Given the description of an element on the screen output the (x, y) to click on. 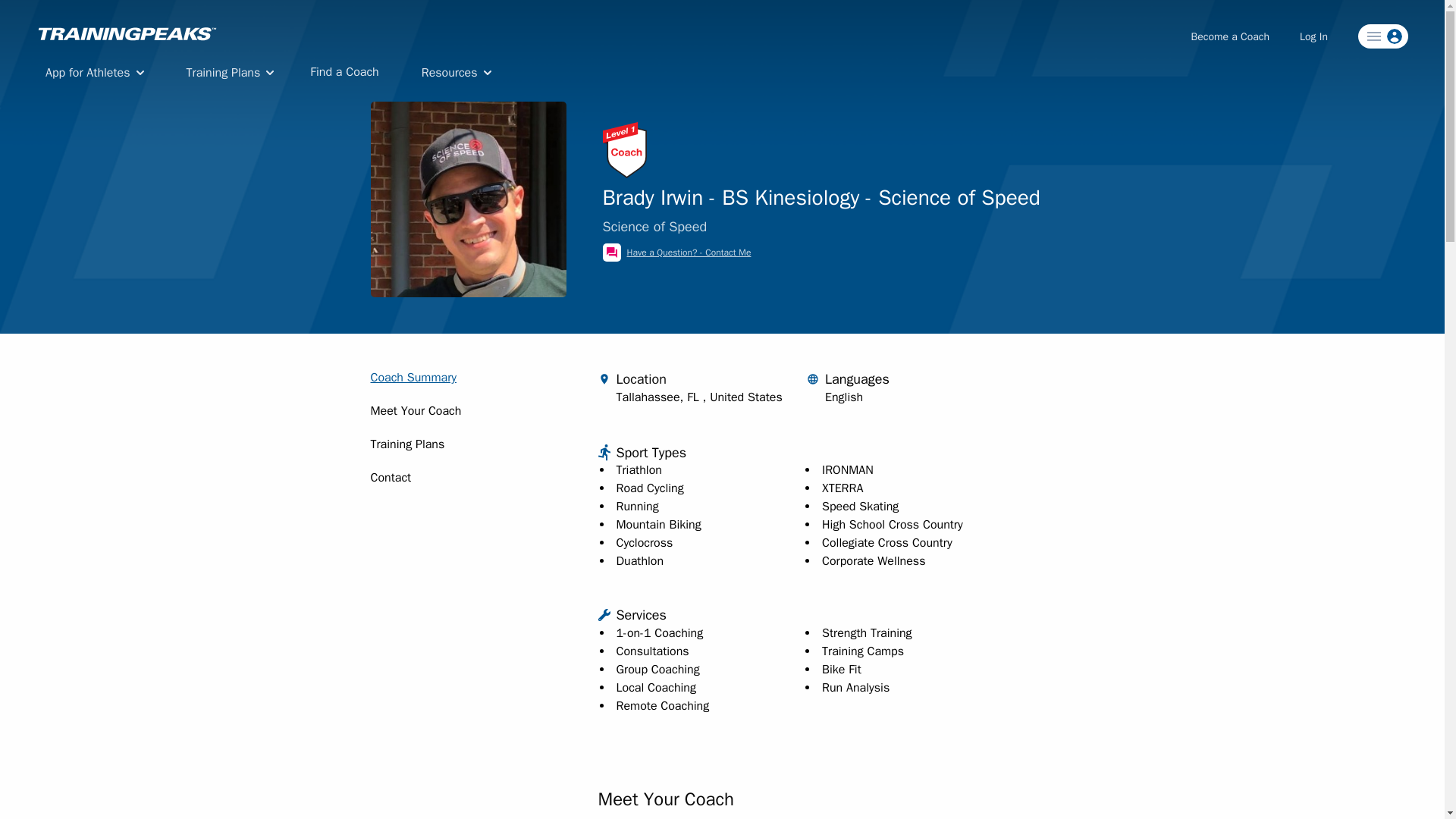
Training Plans (227, 72)
App for Athletes (91, 72)
Resources (453, 72)
Find a Coach (344, 71)
Brady Irwin - BS Kinesiology - Science of Speed (467, 199)
Log In (1313, 36)
Become a Coach (1230, 36)
